Given the description of an element on the screen output the (x, y) to click on. 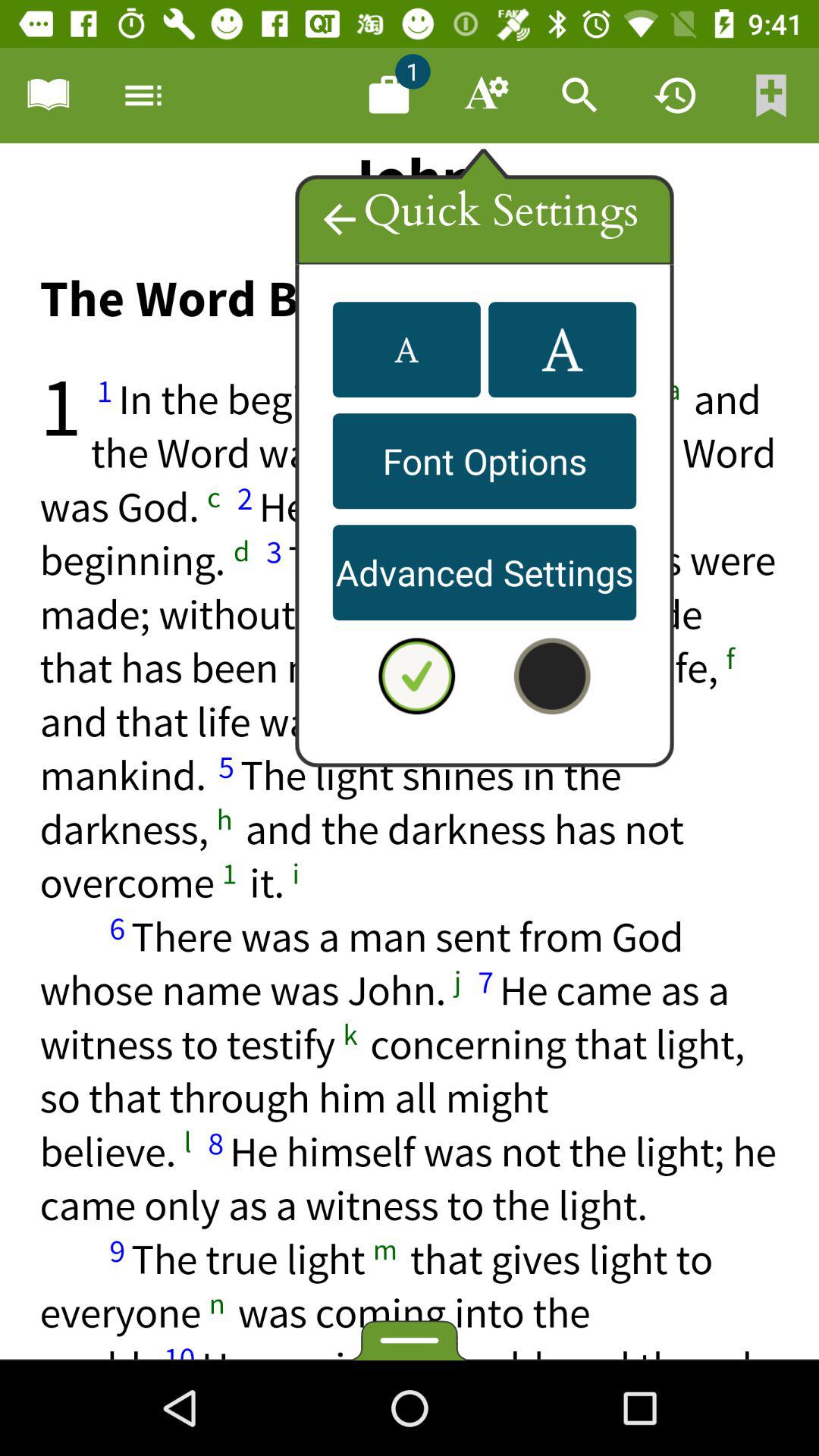
launch table of contents (47, 95)
